Given the description of an element on the screen output the (x, y) to click on. 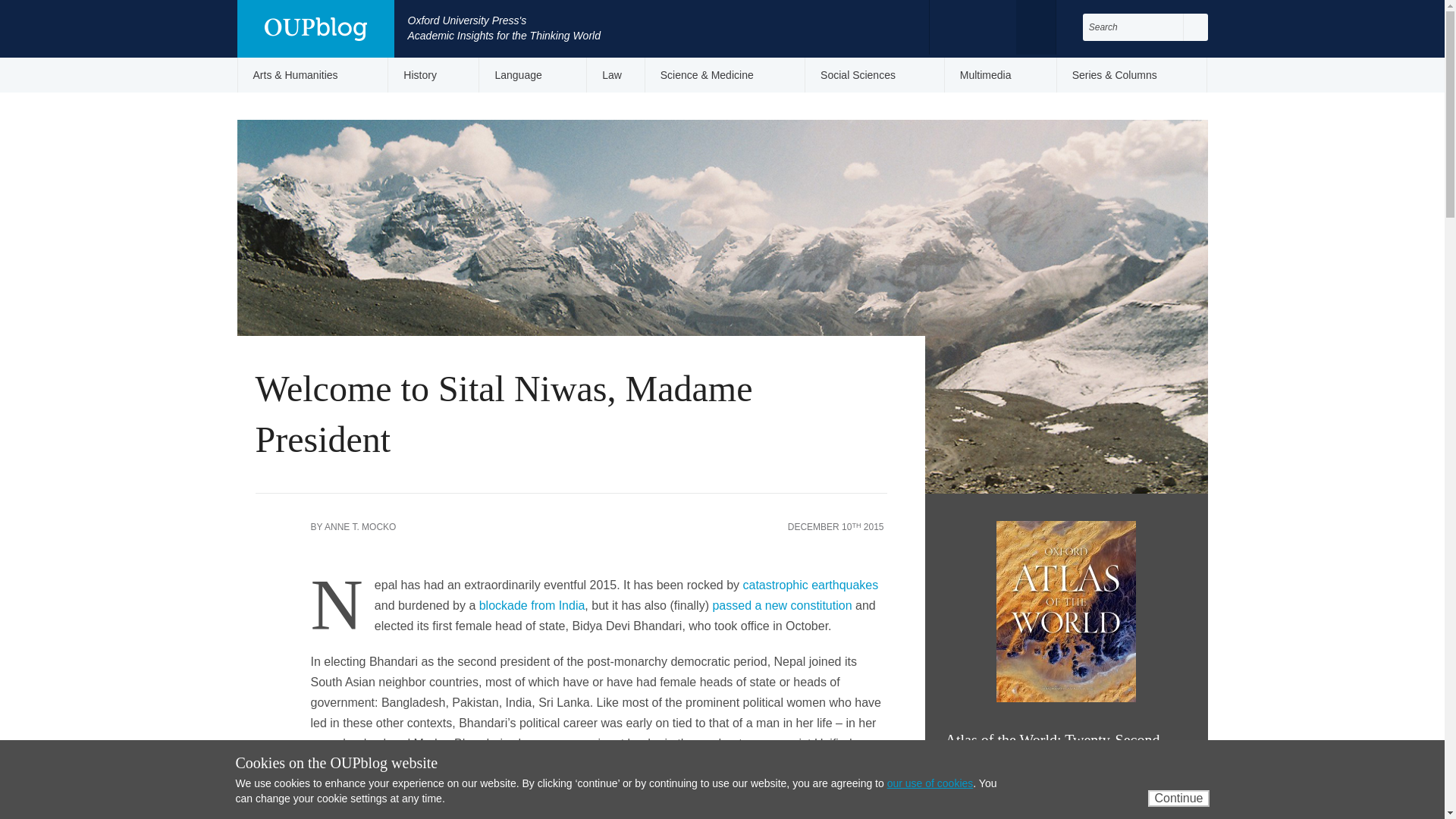
Search for: (1132, 26)
Twitter (986, 25)
History (433, 74)
Facebook (957, 25)
Continue (1178, 798)
Language (532, 74)
our use of cookies (930, 783)
Search (1195, 26)
